Given the description of an element on the screen output the (x, y) to click on. 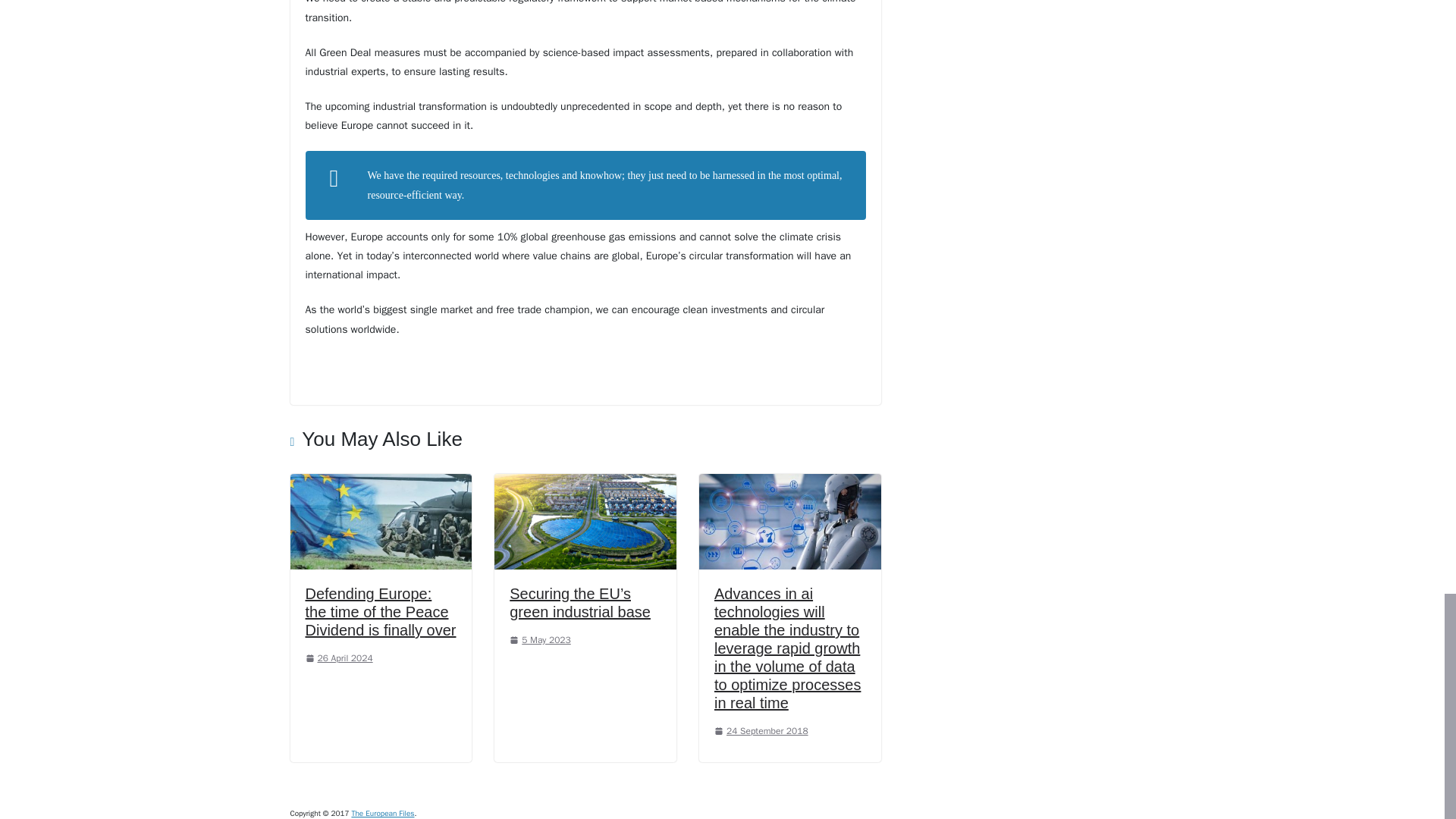
24 September 2018 (761, 730)
26 April 2024 (338, 658)
5 May 2023 (539, 640)
12 h 54 min (539, 640)
9 h 59 min (338, 658)
